Given the description of an element on the screen output the (x, y) to click on. 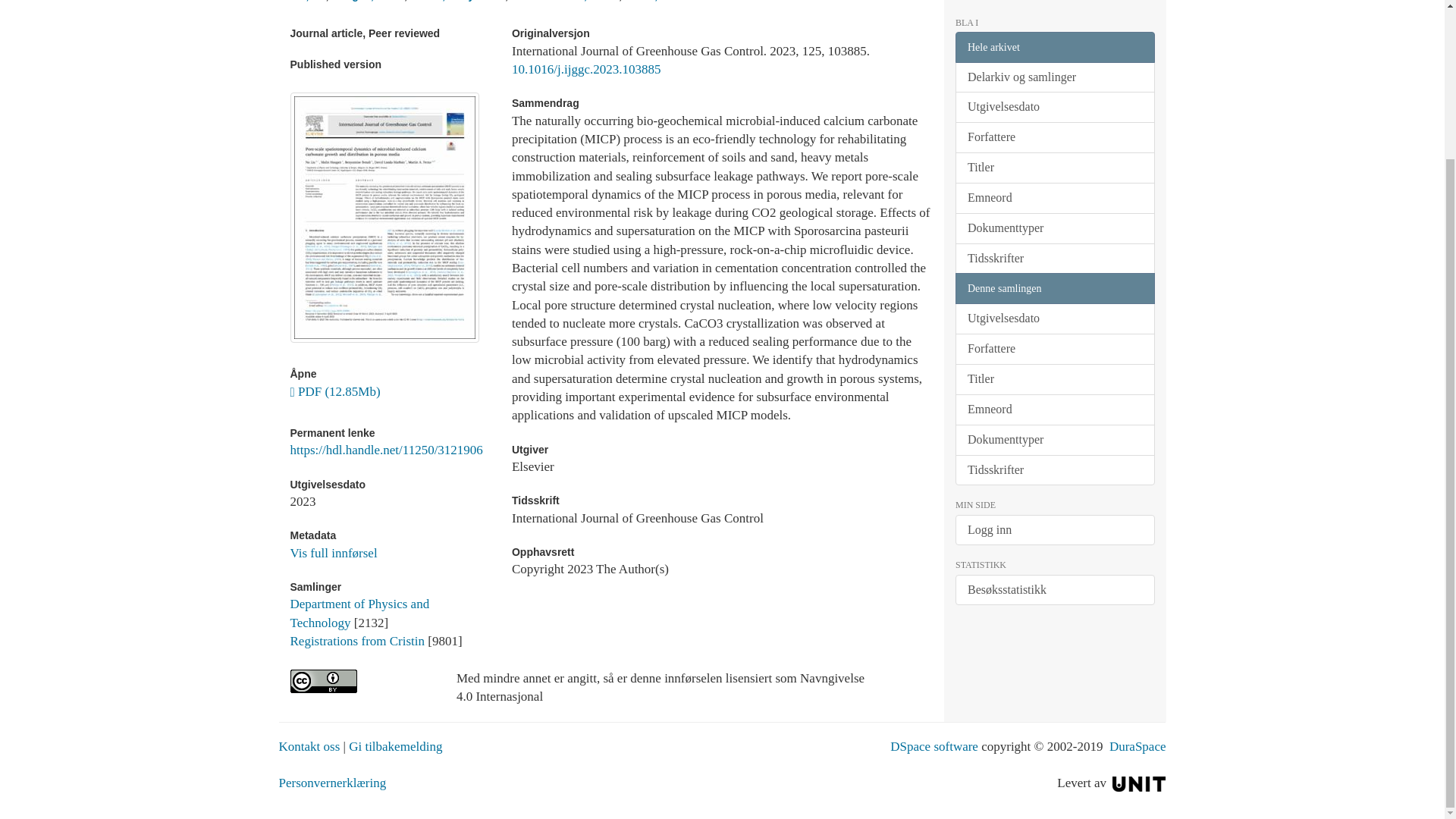
Navngivelse 4.0 Internasjonal (360, 680)
Department of Physics and Technology (359, 613)
Unit (1139, 782)
Hele arkivet (1054, 47)
Haugen, Malin (367, 0)
Registrations from Cristin (357, 640)
Liu, Na (306, 0)
Benali, Benyamine (457, 0)
